Given the description of an element on the screen output the (x, y) to click on. 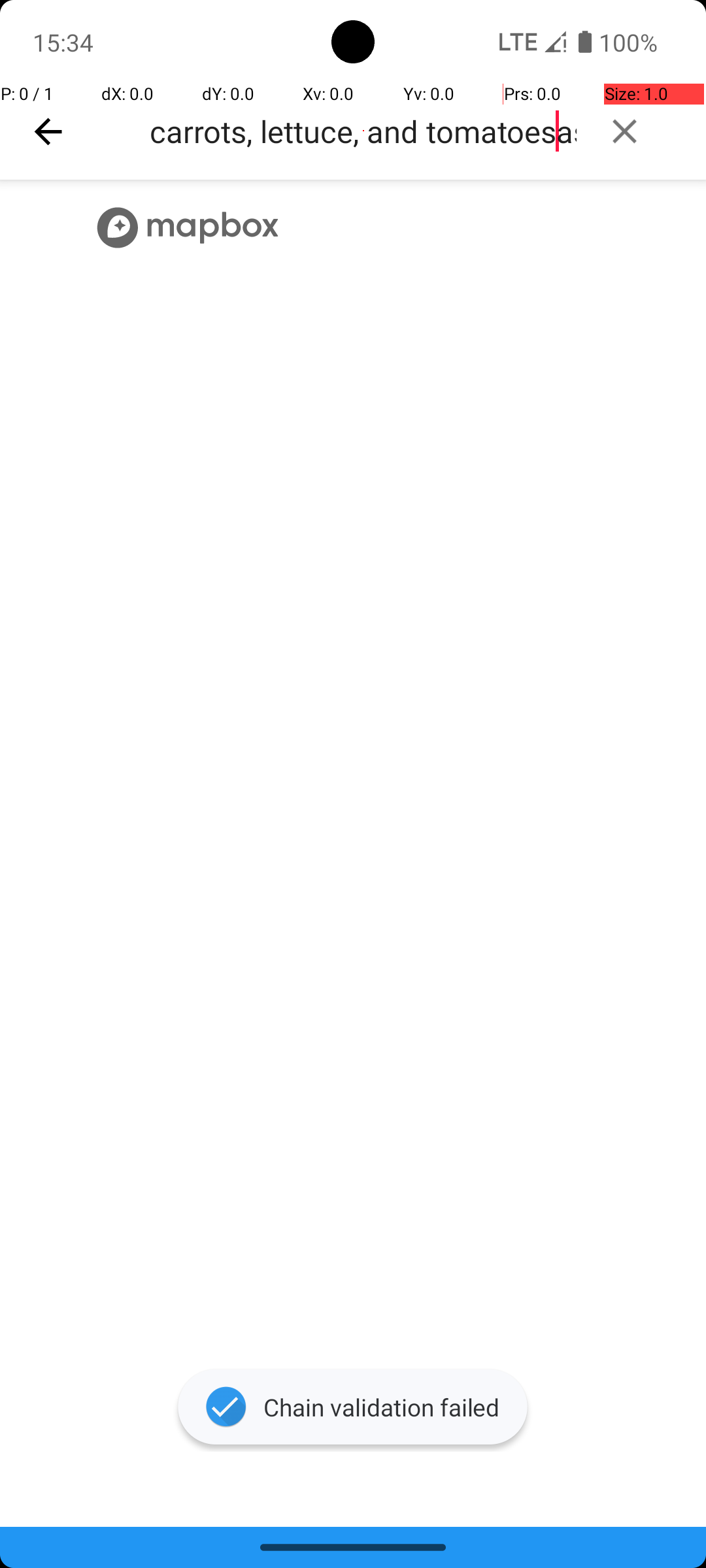
grocery listapples, bananvegetables, carrots, lettuce, and tomatoesas, and oranges Element type: android.widget.AutoCompleteTextView (363, 130)
